Given the description of an element on the screen output the (x, y) to click on. 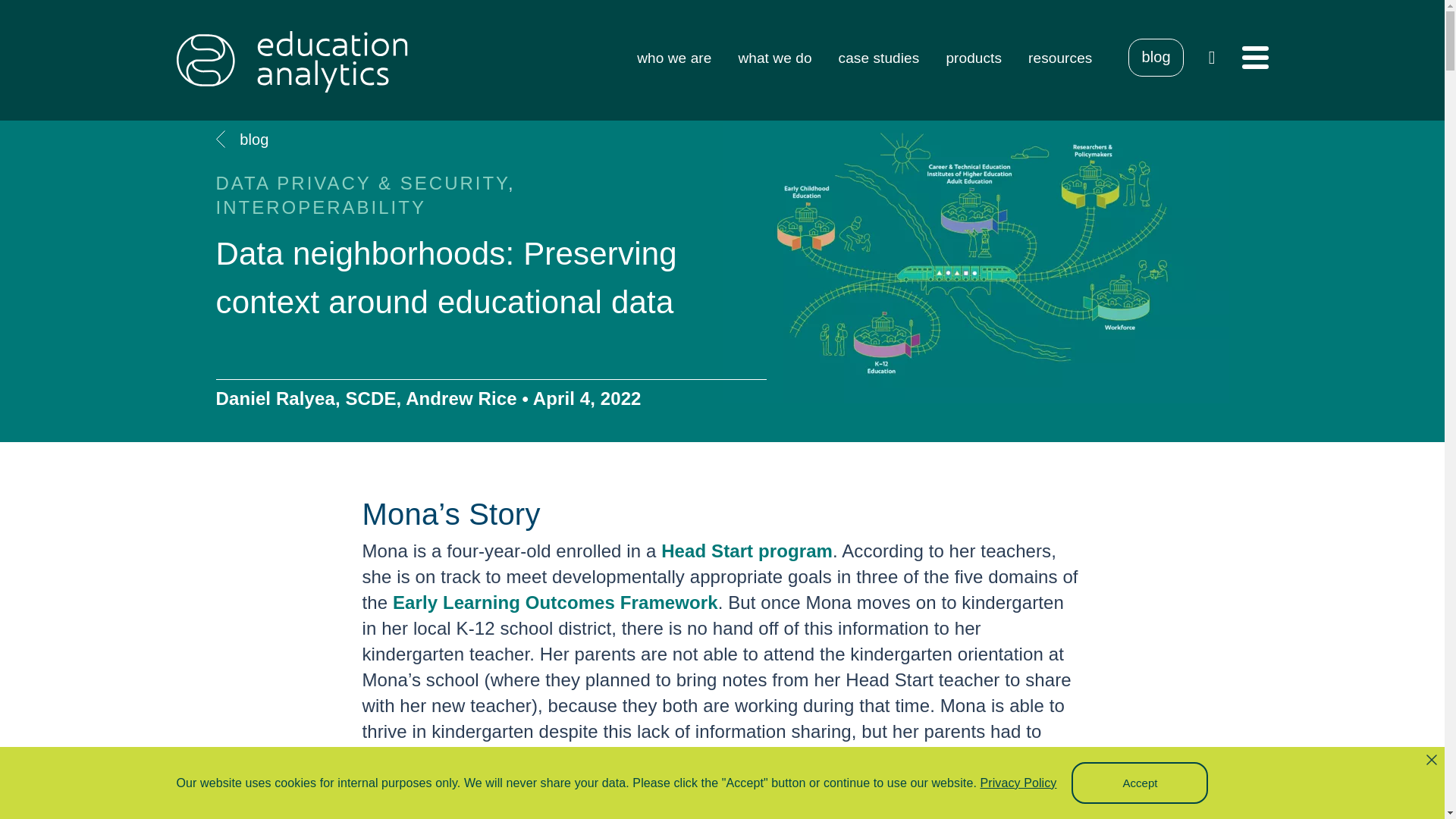
what we do (774, 57)
case studies (879, 57)
products (972, 57)
resources (1059, 57)
who we are (674, 57)
Education Analytics (291, 61)
blog (1155, 57)
